Given the description of an element on the screen output the (x, y) to click on. 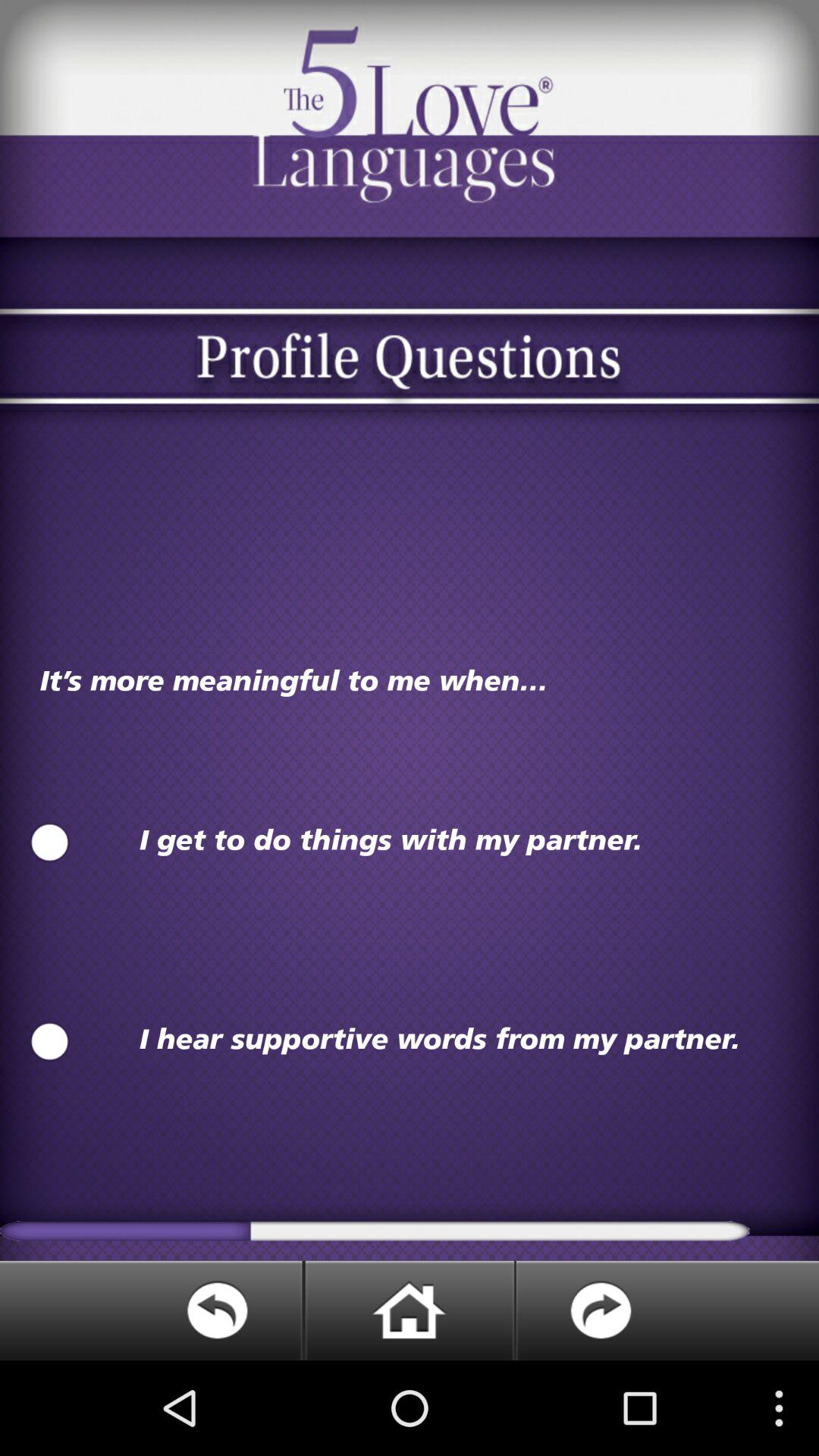
go to radio u button (49, 842)
